Given the description of an element on the screen output the (x, y) to click on. 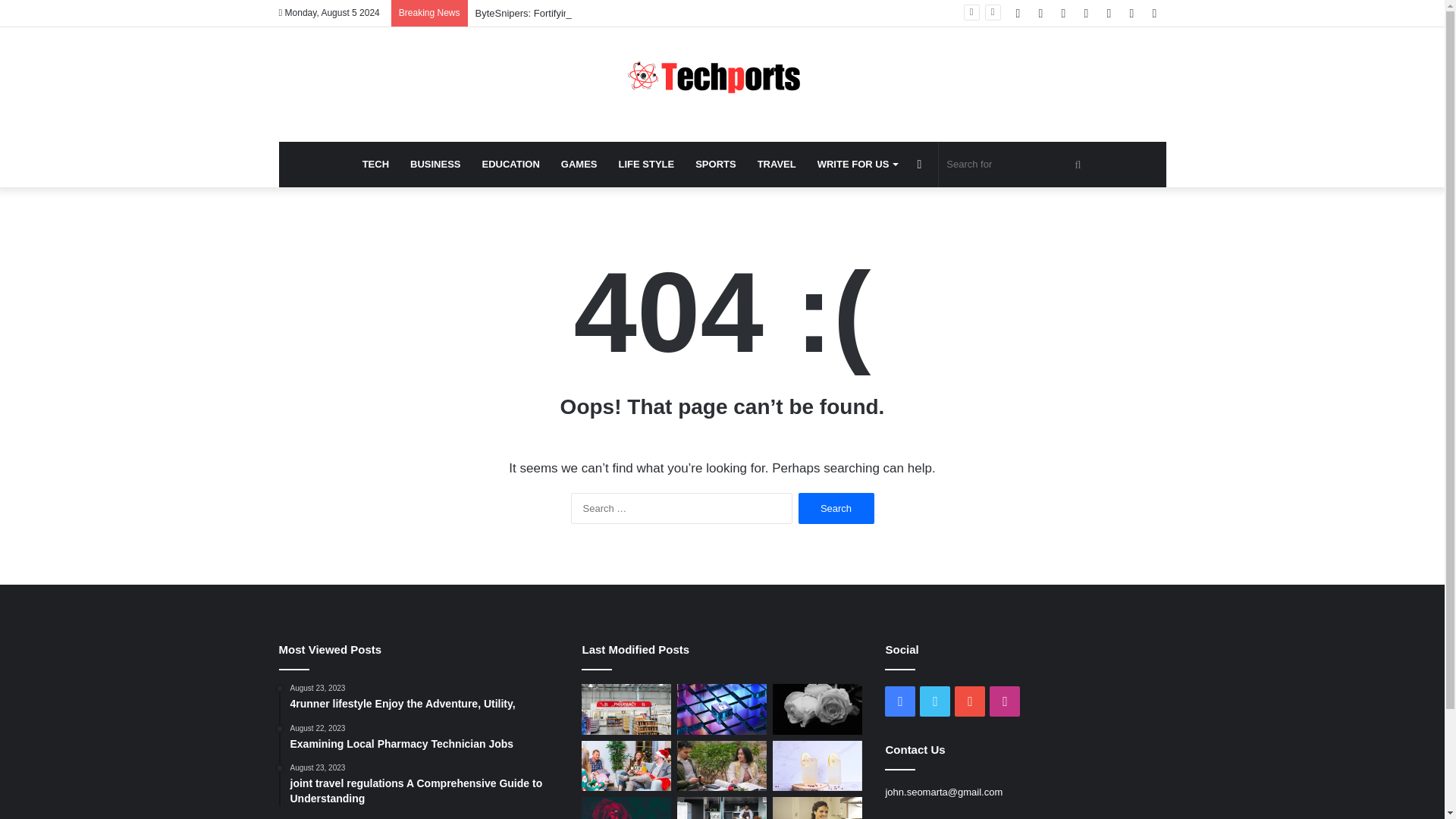
techports (424, 737)
ByteSnipers: Fortifying Your Digital Fortress in Bremen (721, 76)
Facebook (593, 12)
TECH (900, 701)
Search (375, 164)
Search for (835, 508)
GAMES (1016, 164)
Twitter (579, 164)
Search (935, 701)
LIFE STYLE (835, 508)
Instagram (646, 164)
SPORTS (1005, 701)
